Given the description of an element on the screen output the (x, y) to click on. 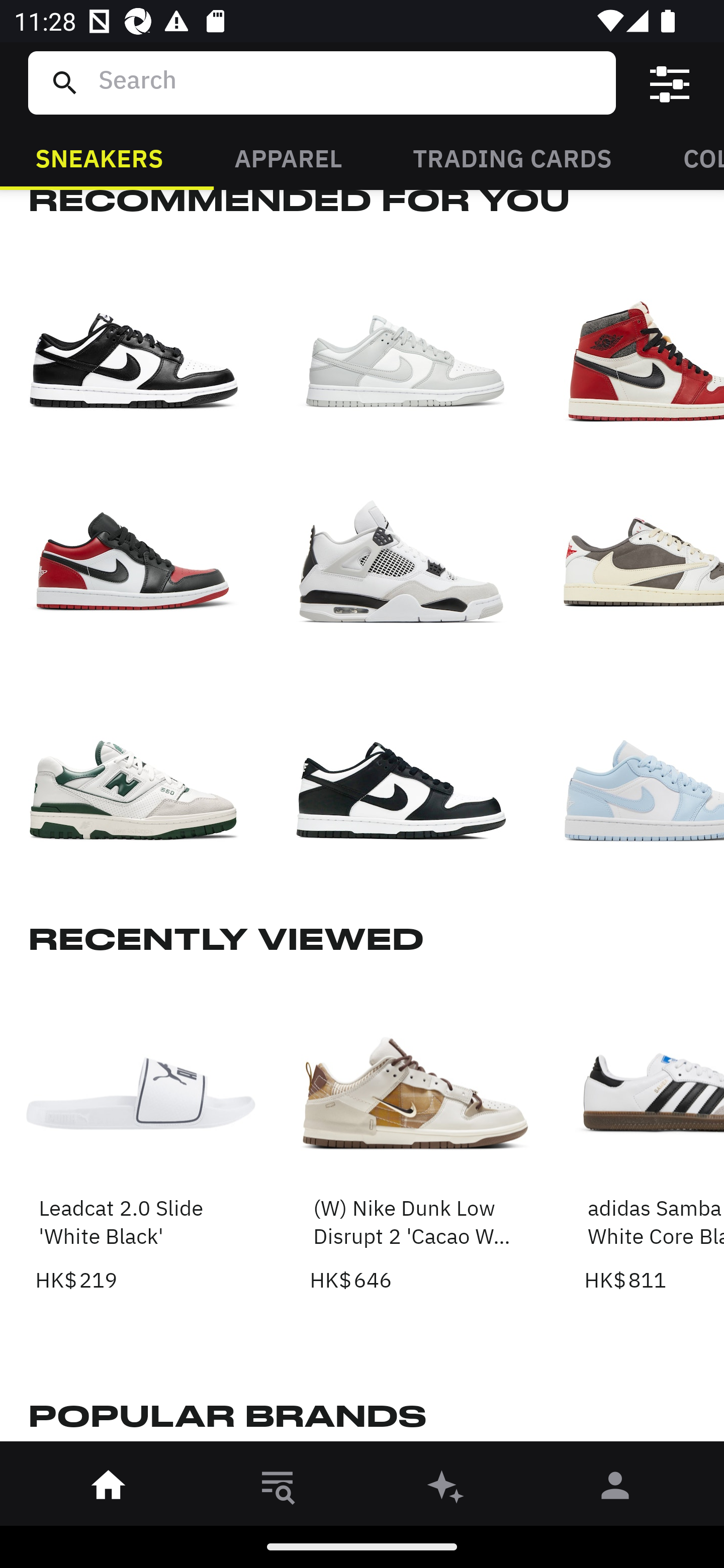
Search (349, 82)
 (669, 82)
SNEAKERS (99, 156)
APPAREL (287, 156)
TRADING CARDS (512, 156)
Leadcat 2.0 Slide 'White Black' HK$ 219 (140, 1137)
adidas Samba 'Cloud White Core Black' HK$ 811 (654, 1137)
󰋜 (108, 1488)
󱎸 (277, 1488)
󰫢 (446, 1488)
󰀄 (615, 1488)
